Given the description of an element on the screen output the (x, y) to click on. 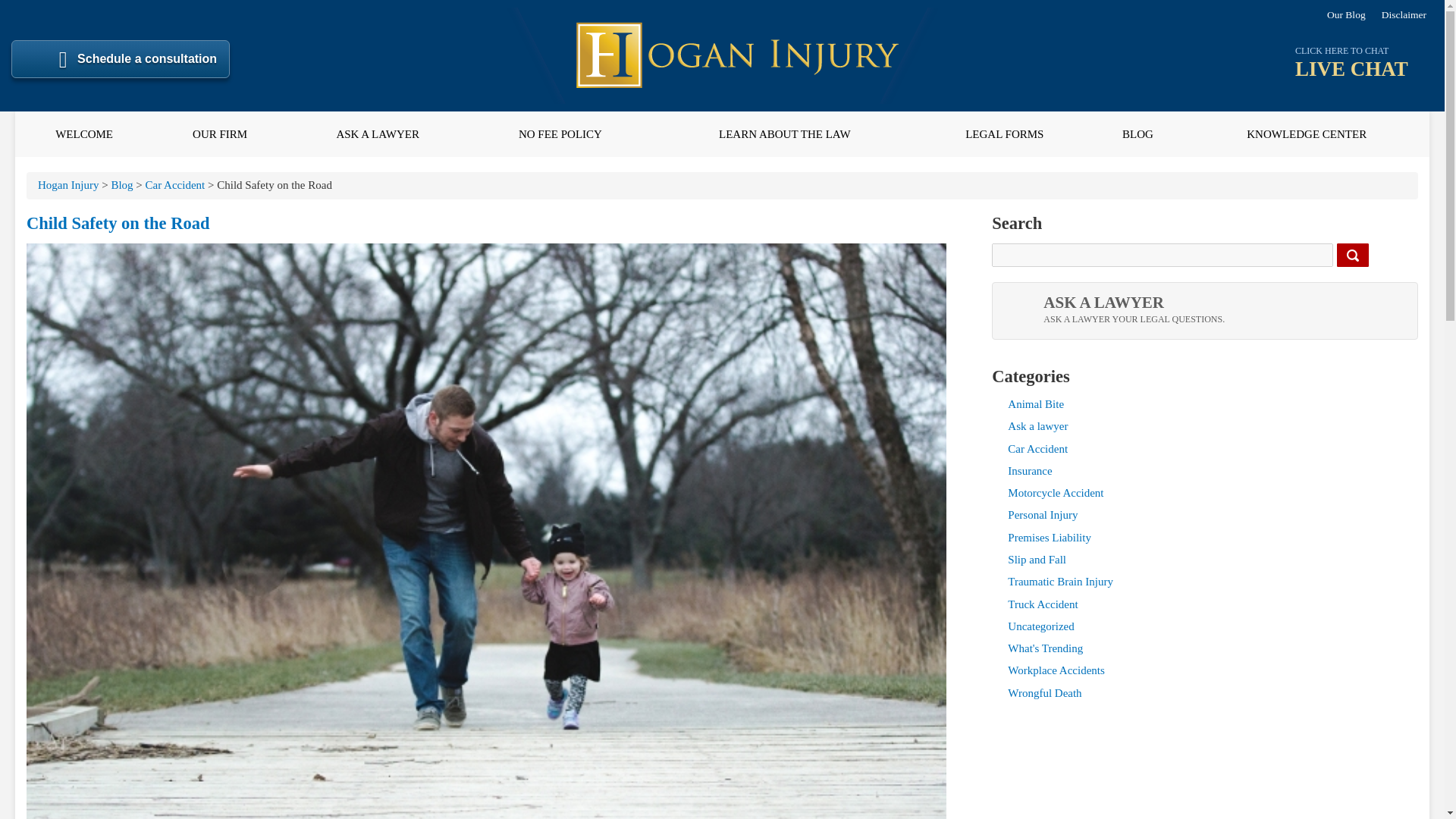
BLOG (1136, 134)
Premises Liability (1048, 537)
LEGAL FORMS (1003, 134)
Traumatic Brain Injury (1060, 581)
Child Safety on the Road (117, 222)
Go to the Car Accident category archives. (175, 184)
Uncategorized (1040, 625)
Blog (121, 184)
Hogan Injury (68, 184)
Personal Injury (1042, 514)
Truck Accident (1042, 604)
Ask a lawyer (1037, 426)
Insurance (1204, 310)
Car Accident (1029, 470)
